Given the description of an element on the screen output the (x, y) to click on. 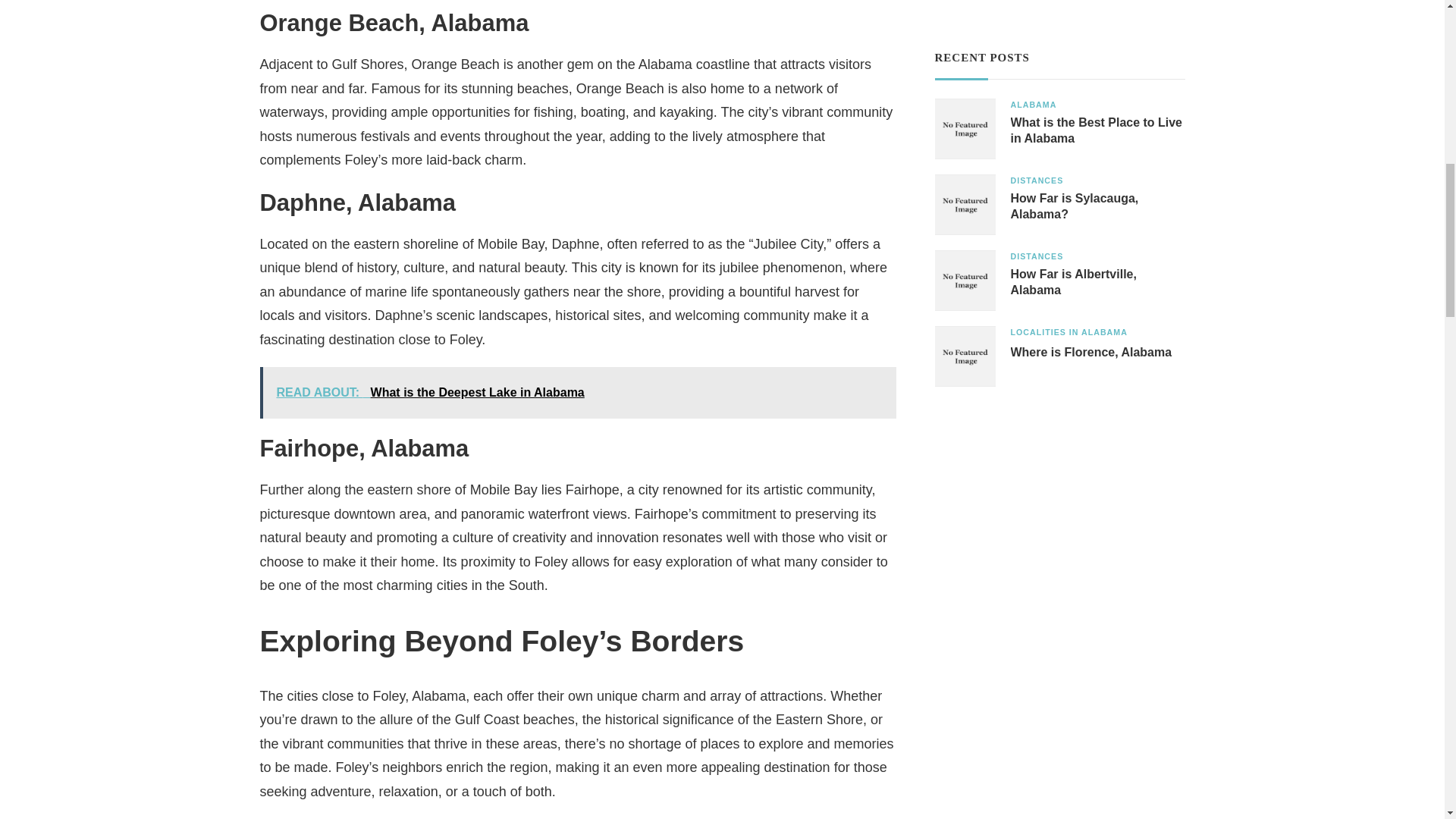
How Far is Sylacauga, Alabama? (1097, 206)
READ ABOUT:   What is the Deepest Lake in Alabama (577, 392)
What is the Best Place to Live in Alabama (1097, 131)
LOCALITIES IN ALABAMA (1068, 332)
DISTANCES (1036, 256)
ALABAMA (1033, 104)
How Far is Albertville, Alabama (1097, 282)
DISTANCES (1036, 180)
Where is Florence, Alabama (1091, 352)
